Given the description of an element on the screen output the (x, y) to click on. 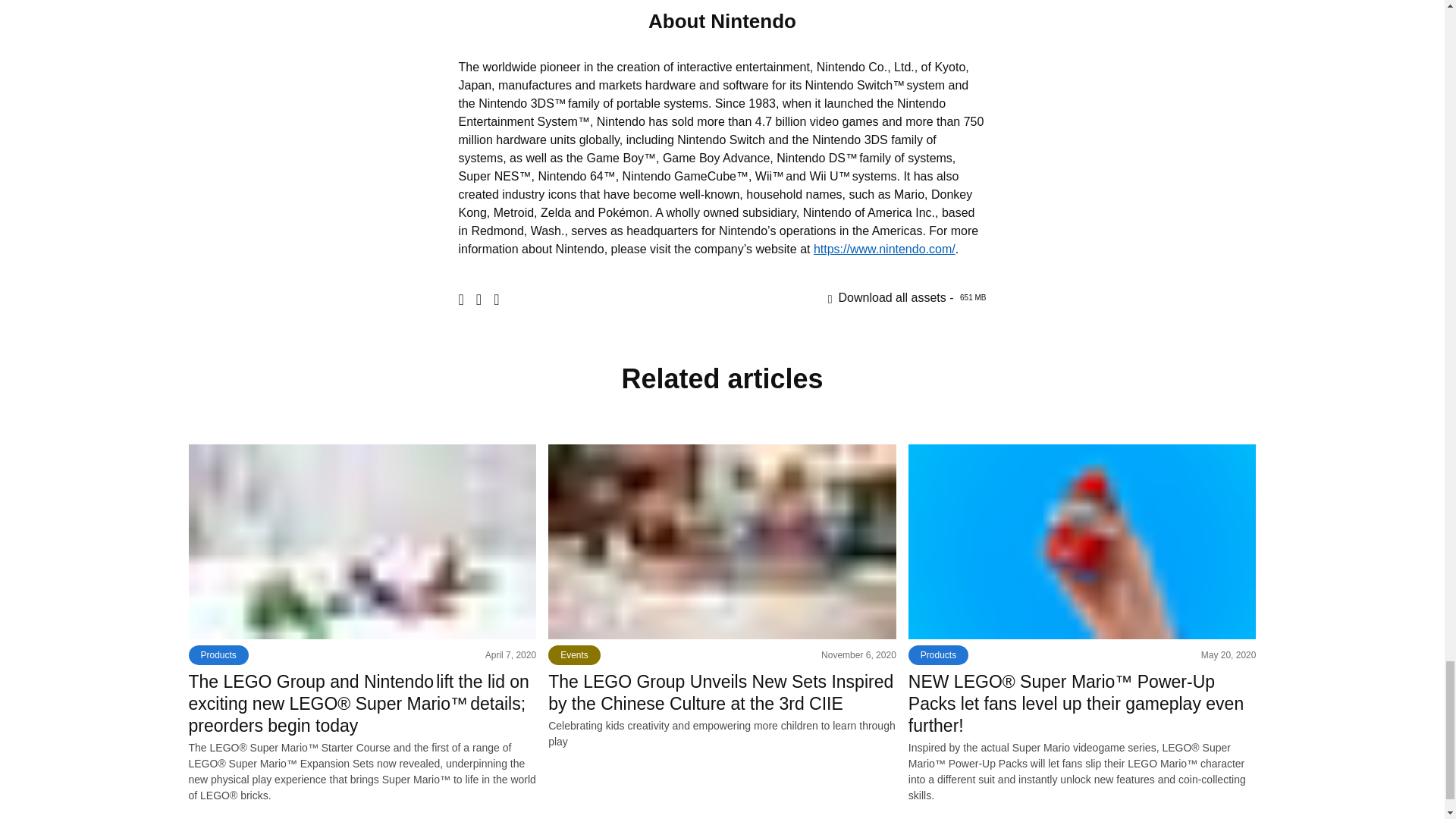
Download all assets (907, 296)
